Given the description of an element on the screen output the (x, y) to click on. 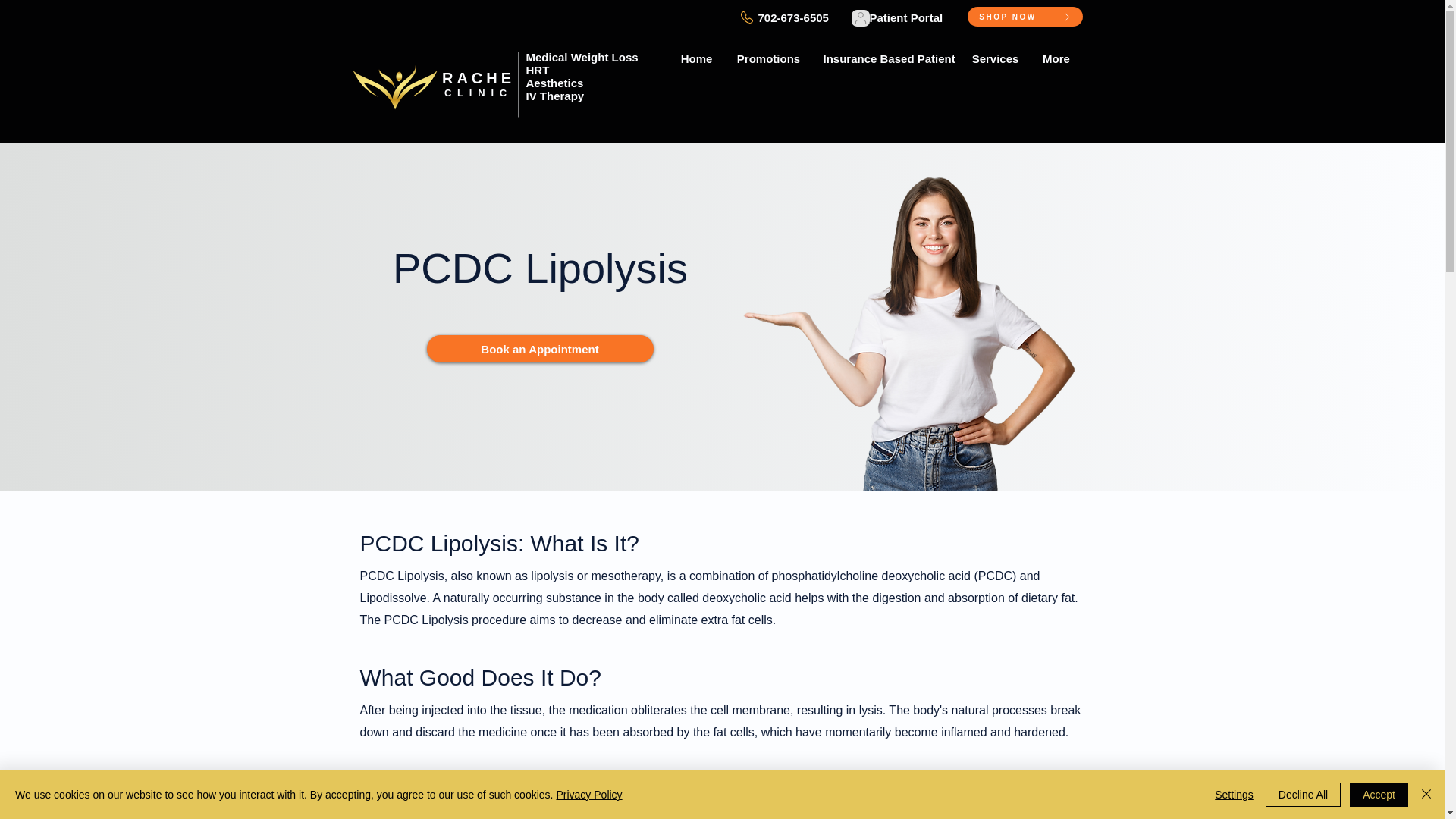
RACHE (478, 77)
Privacy Policy (588, 794)
Book an Appointment (539, 348)
RACHE CLINIC LOGO (394, 85)
Accept (1378, 794)
Medical Weight Loss (582, 56)
Promotions (767, 58)
Patient Portal (905, 17)
Decline All (1302, 794)
SHOP NOW (1025, 16)
